Given the description of an element on the screen output the (x, y) to click on. 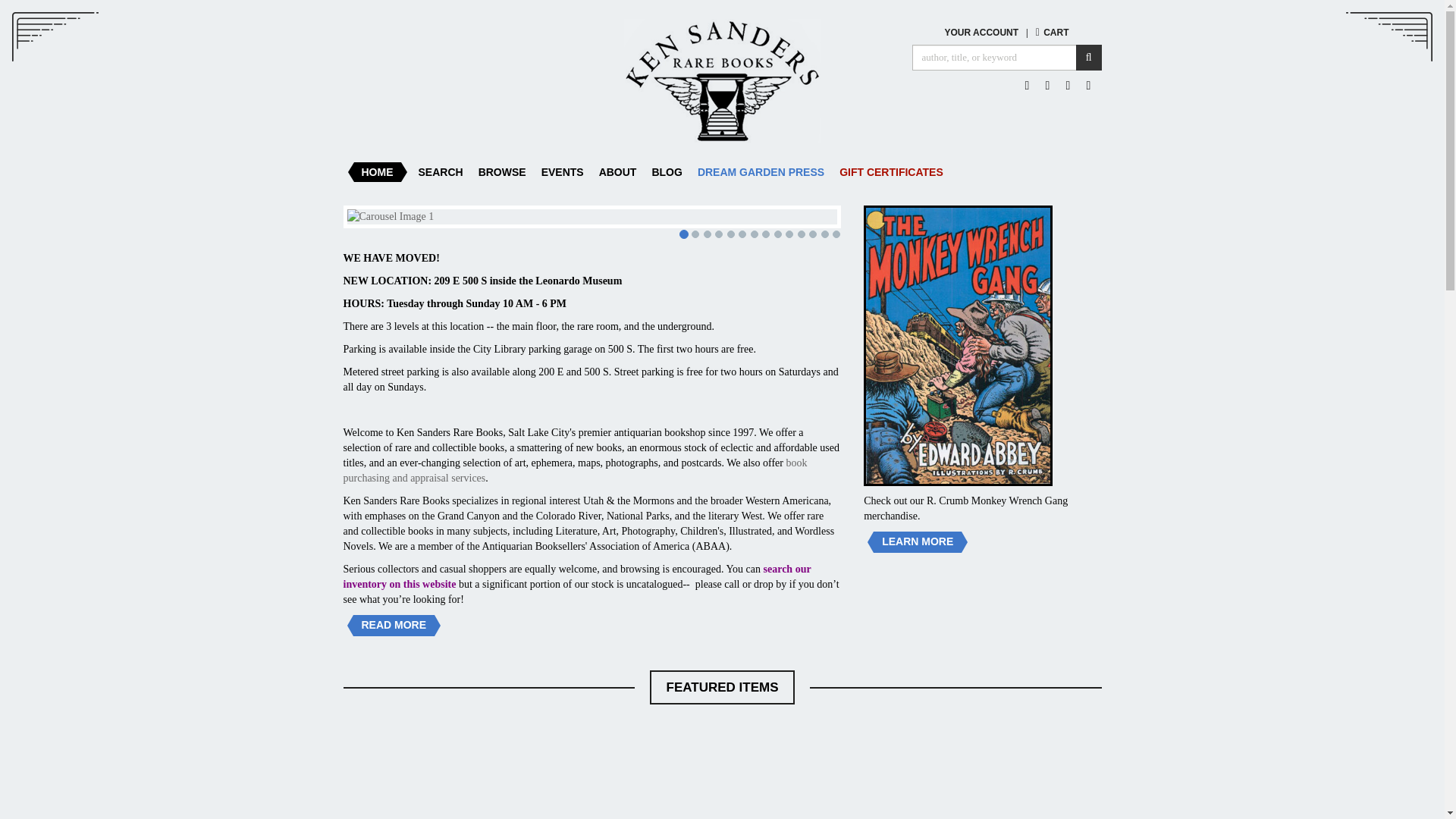
BLOG (665, 171)
Follow on Instagram (1088, 85)
SEARCH (440, 171)
Find on Facebook (1026, 85)
Follow on Pinterest (1067, 85)
HOME (376, 171)
Follow on Twitter (1048, 85)
DREAM GARDEN PRESS (760, 171)
EVENTS (562, 171)
Ken Sanders Rare Books (721, 80)
ABOUT (618, 171)
Follow on Instagram (1088, 85)
GIFT CERTIFICATES (890, 171)
book purchasing and appraisa (574, 470)
Find on Facebook (1026, 85)
